Given the description of an element on the screen output the (x, y) to click on. 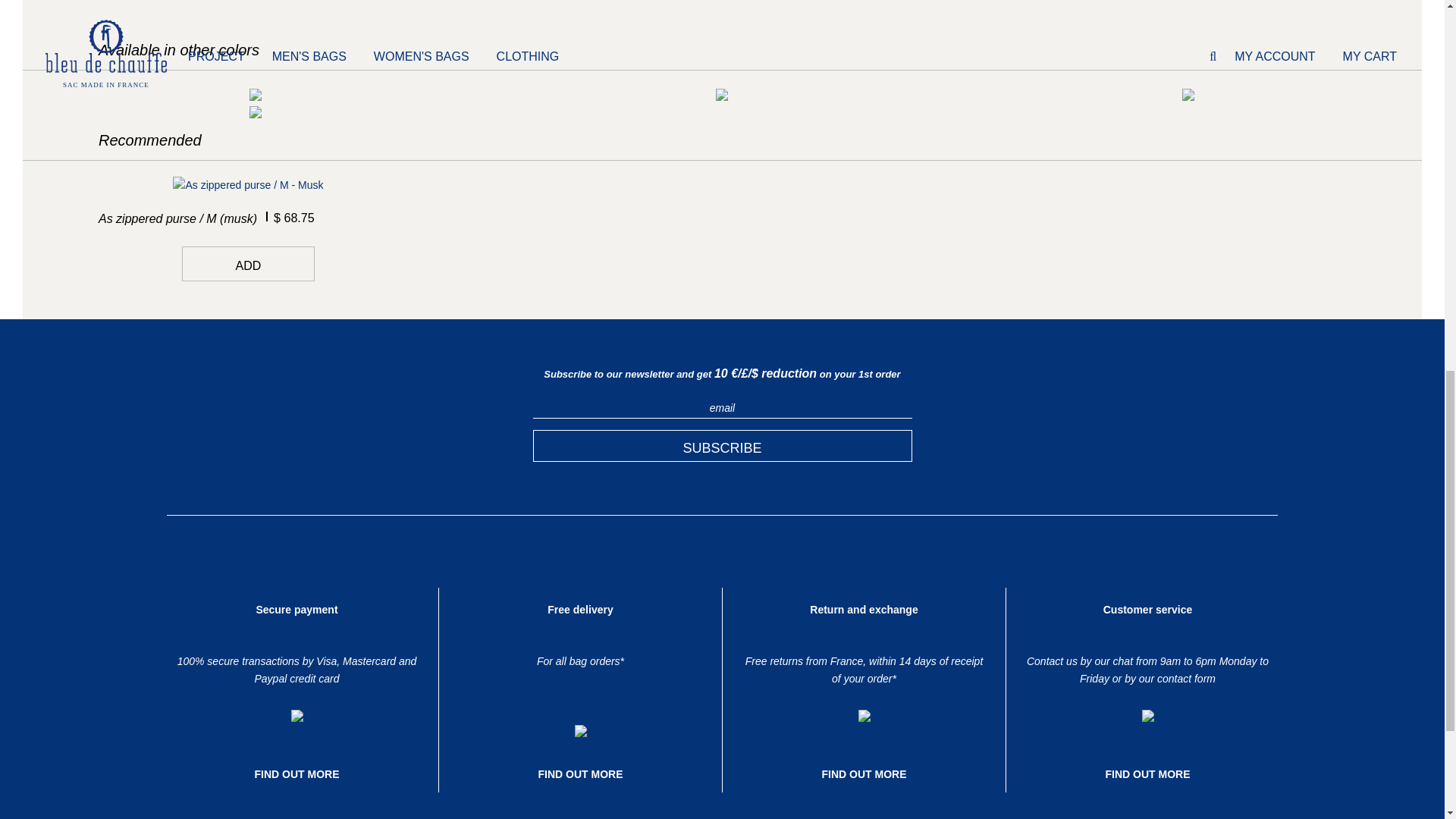
SUBSCRIBE (721, 445)
